Given the description of an element on the screen output the (x, y) to click on. 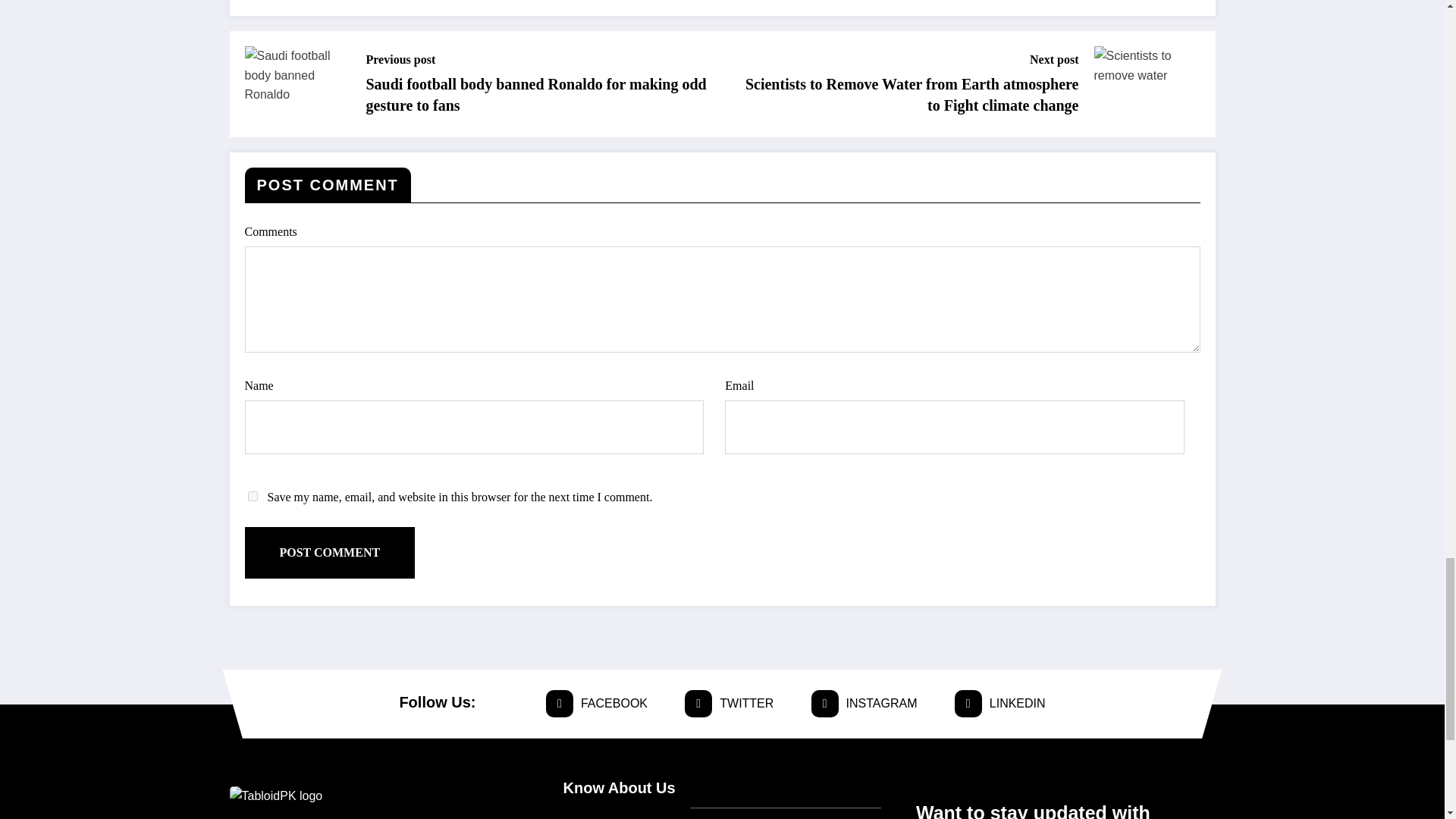
yes (252, 496)
Post Comment (329, 552)
